Given the description of an element on the screen output the (x, y) to click on. 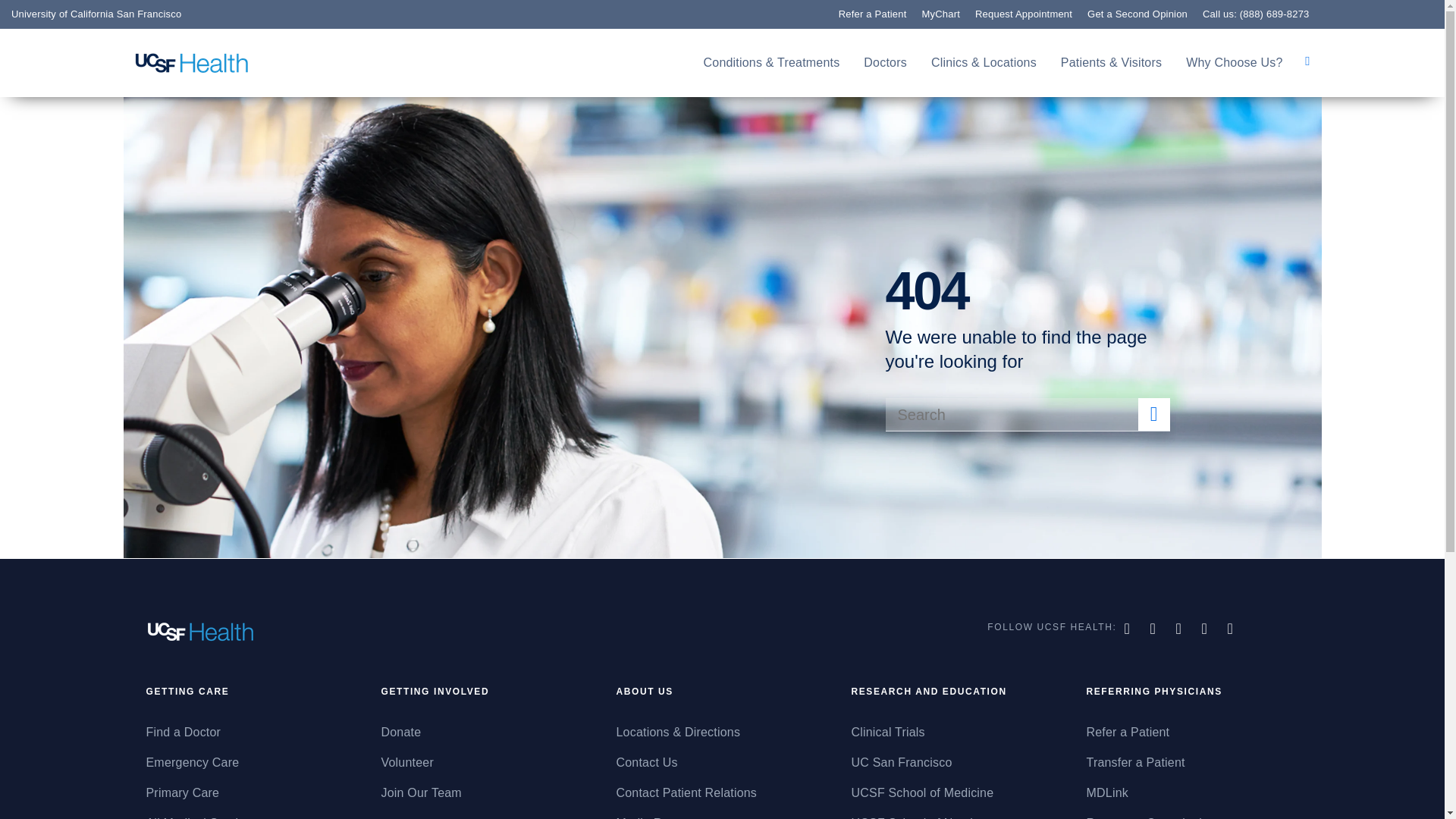
Refer a Patient (1192, 732)
UCSF School of Nursing (956, 816)
University of California San Francisco (95, 13)
Facebook (1128, 628)
Volunteer (486, 762)
 Treatments (99, 311)
Linkedin (1232, 628)
Instagram (1206, 628)
Primary Care (251, 792)
Find a Doctor (107, 220)
